Given the description of an element on the screen output the (x, y) to click on. 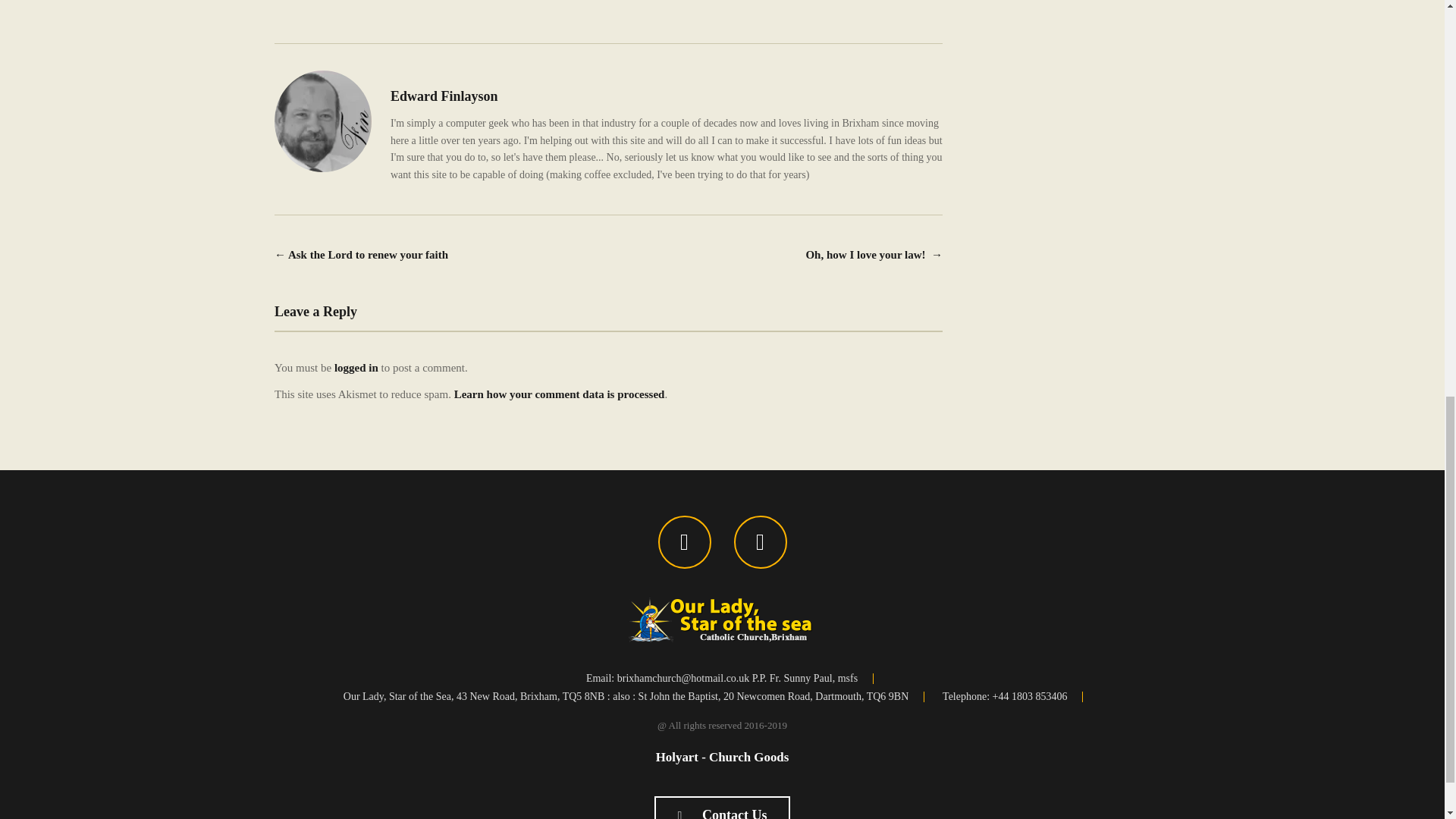
Twitter (760, 541)
logged in (356, 367)
Facebook (684, 541)
Edward Finlayson (443, 96)
Learn how your comment data is processed (559, 394)
